Given the description of an element on the screen output the (x, y) to click on. 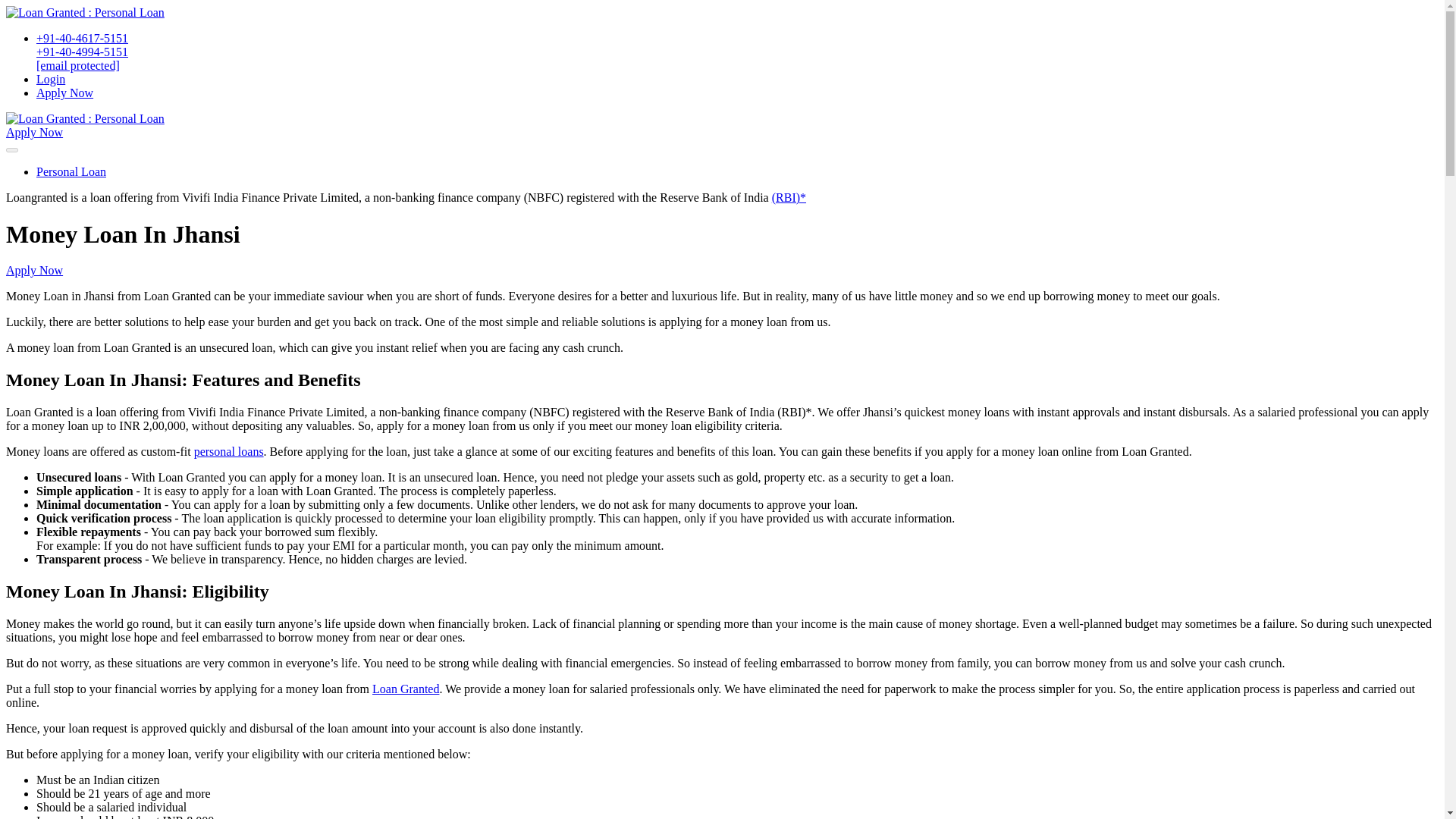
Apply Now (33, 132)
Loan Granted : Personal Loan (84, 119)
Apply Now (64, 92)
Personal Loan (71, 171)
personal loans (228, 451)
Apply Now (33, 269)
Login (50, 78)
Loan Granted : Personal Loan (84, 12)
Loan Granted (405, 688)
